Given the description of an element on the screen output the (x, y) to click on. 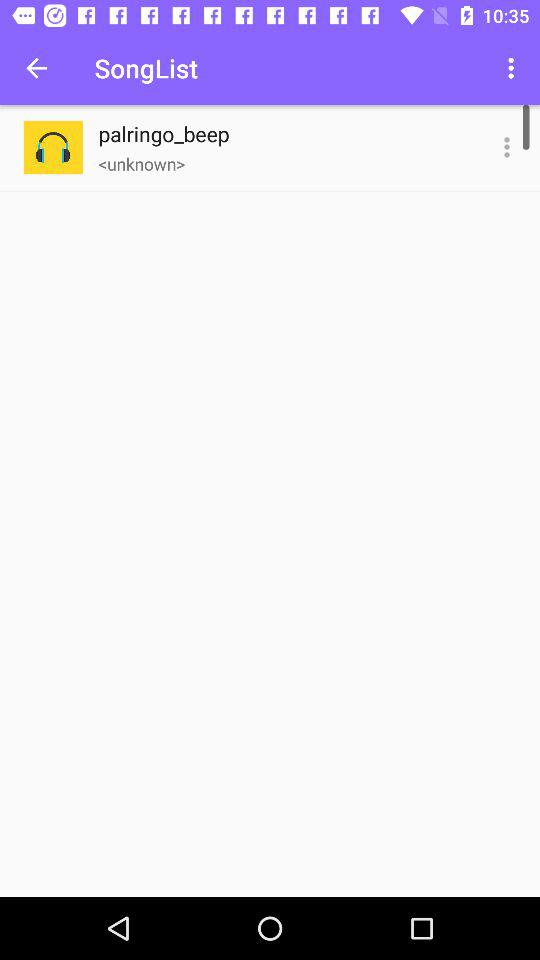
choose the item next to the songlist icon (513, 67)
